Given the description of an element on the screen output the (x, y) to click on. 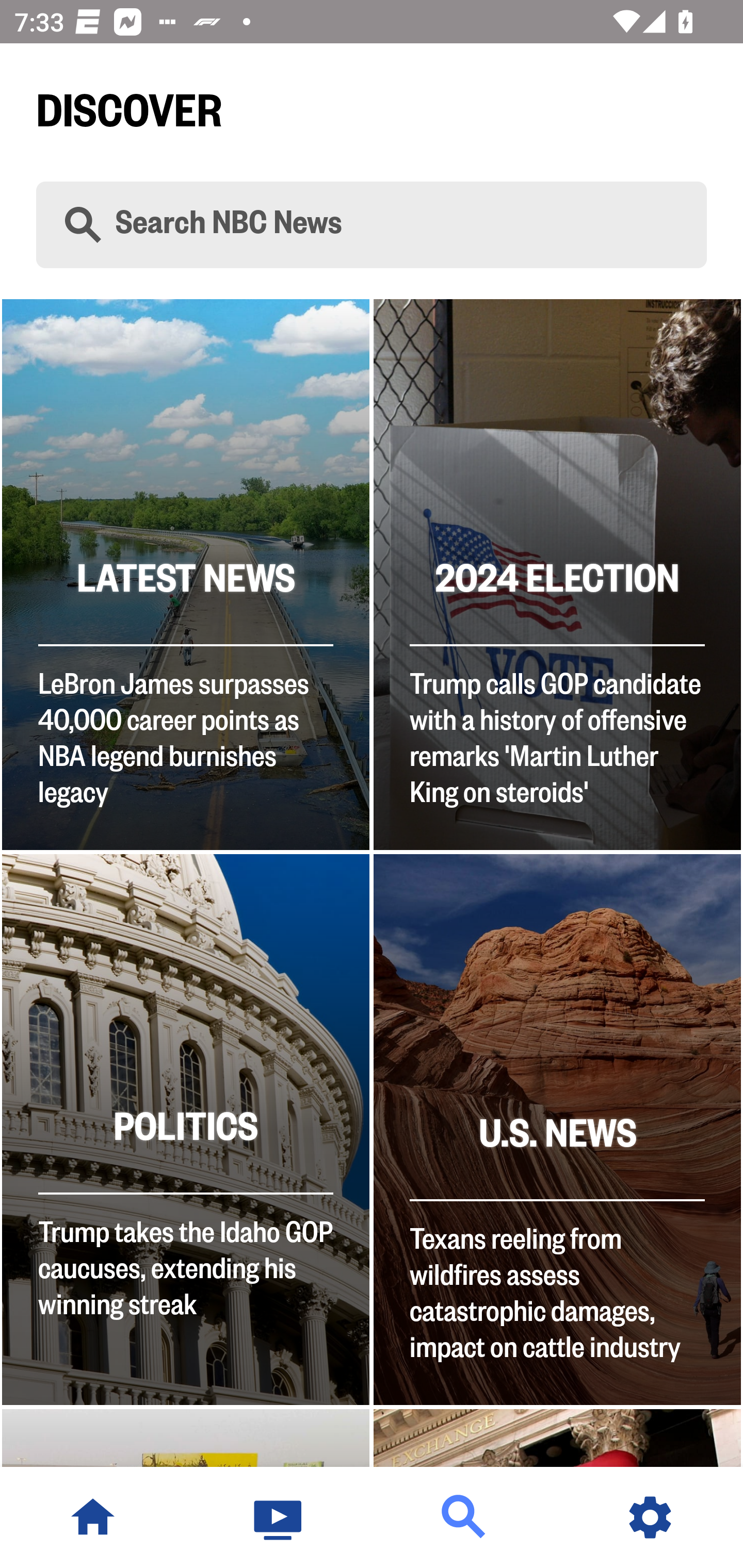
NBC News Home (92, 1517)
Watch (278, 1517)
Settings (650, 1517)
